Given the description of an element on the screen output the (x, y) to click on. 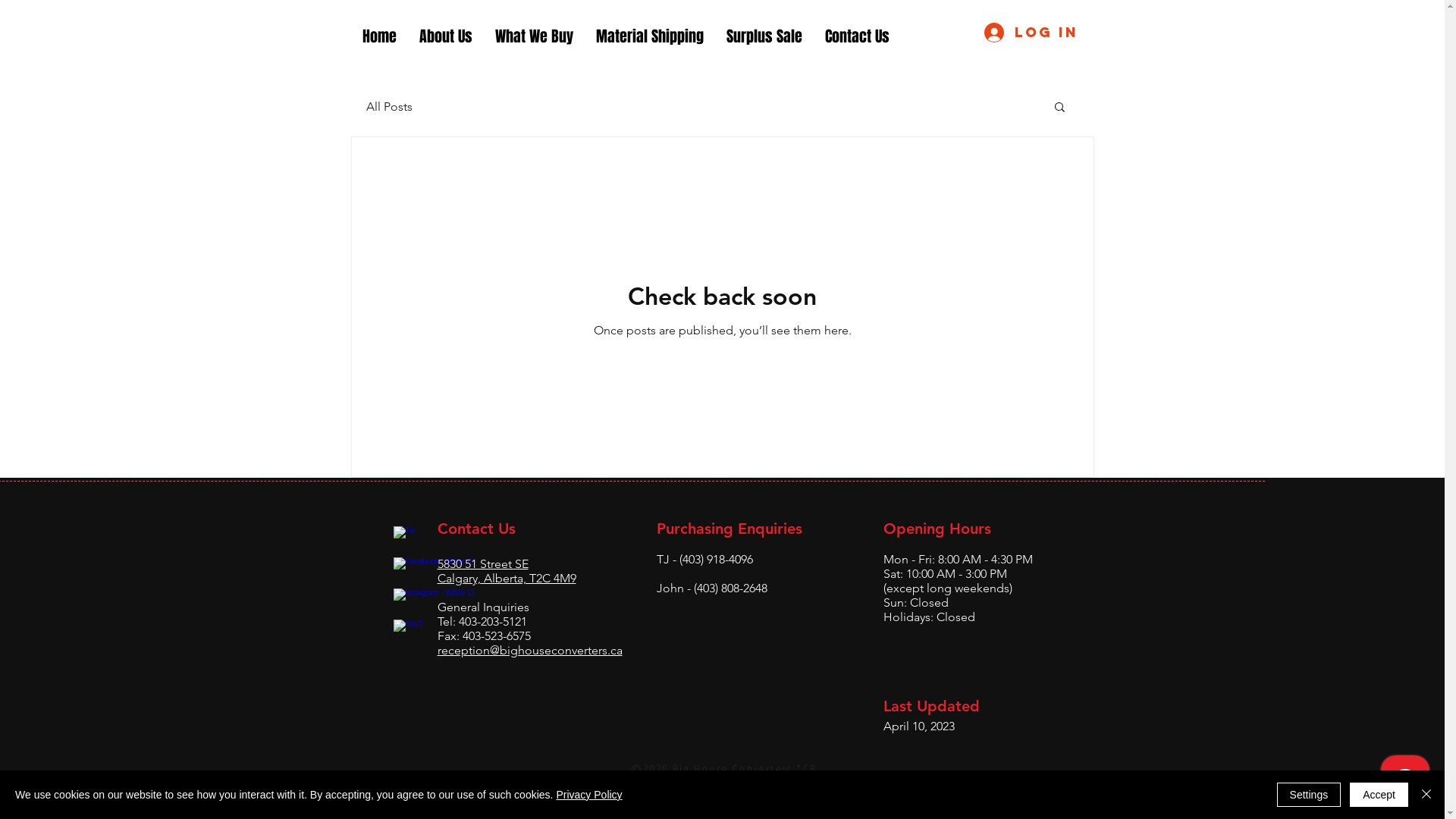
Material Shipping Element type: text (648, 36)
Surplus Sale Element type: text (763, 36)
Home Element type: text (378, 36)
Privacy Policy Element type: text (588, 794)
Embedded Content Element type: hover (334, 498)
Contact Us Element type: text (856, 36)
Settings Element type: text (1309, 794)
About Us Element type: text (445, 36)
Log In Element type: text (1030, 32)
reception@bighouseconverters.ca Element type: text (528, 650)
All Posts Element type: text (388, 105)
Accept Element type: text (1378, 794)
5830 51 Street SE
Calgary, Alberta, T2C 4M9 Element type: text (505, 570)
What We Buy Element type: text (533, 36)
